Given the description of an element on the screen output the (x, y) to click on. 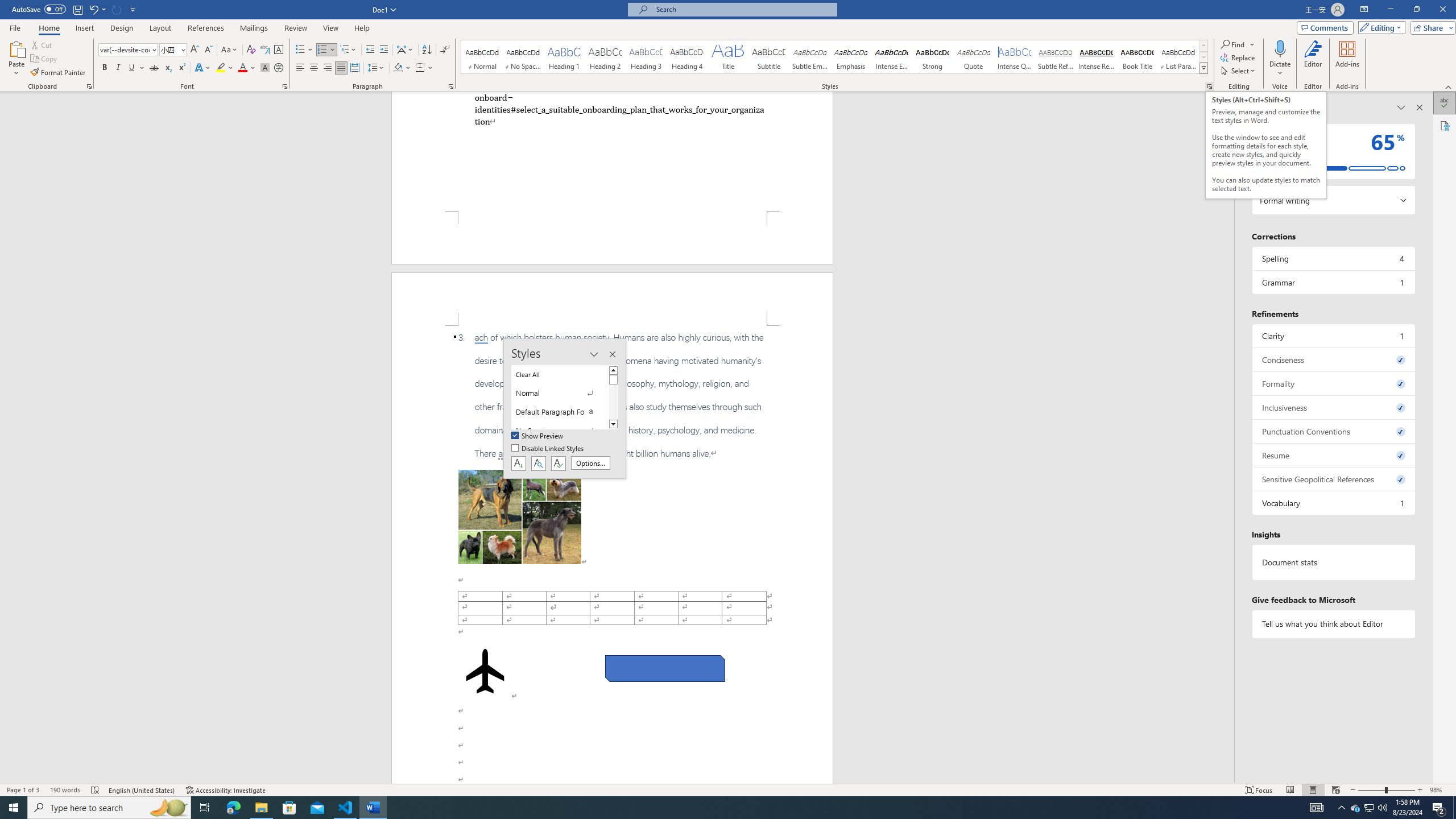
Superscript (180, 67)
Class: MsoCommandBar (728, 789)
Character Shading (264, 67)
Grow Font (193, 49)
Decrease Indent (370, 49)
Page Number Page 1 of 3 (22, 790)
Share (1430, 27)
Spelling and Grammar Check Errors (94, 790)
Paragraph... (450, 85)
System (6, 6)
Conciseness, 0 issues. Press space or enter to review items. (1333, 359)
Grammar, 1 issue. Press space or enter to review items. (1333, 282)
Subtle Reference (1055, 56)
Office Clipboard... (88, 85)
